Given the description of an element on the screen output the (x, y) to click on. 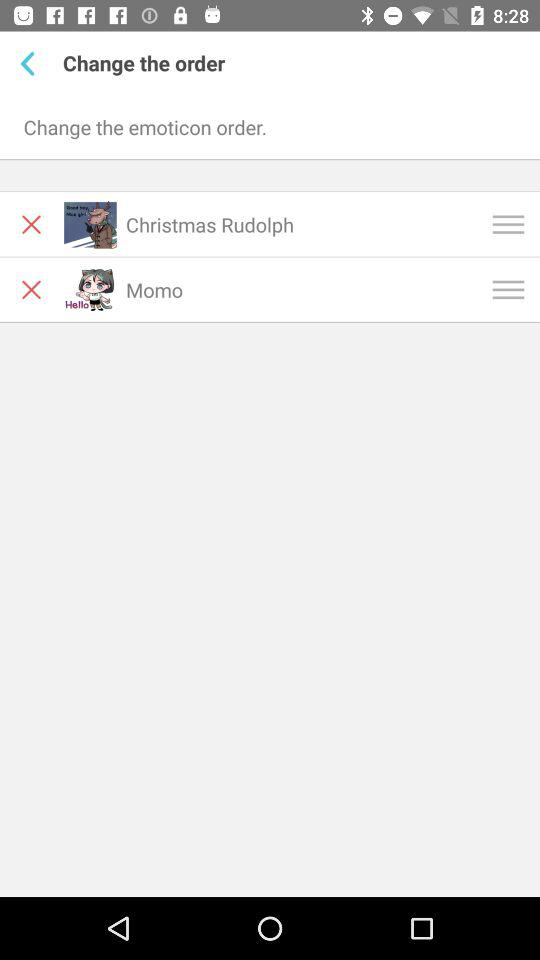
go to back screen (31, 63)
